Given the description of an element on the screen output the (x, y) to click on. 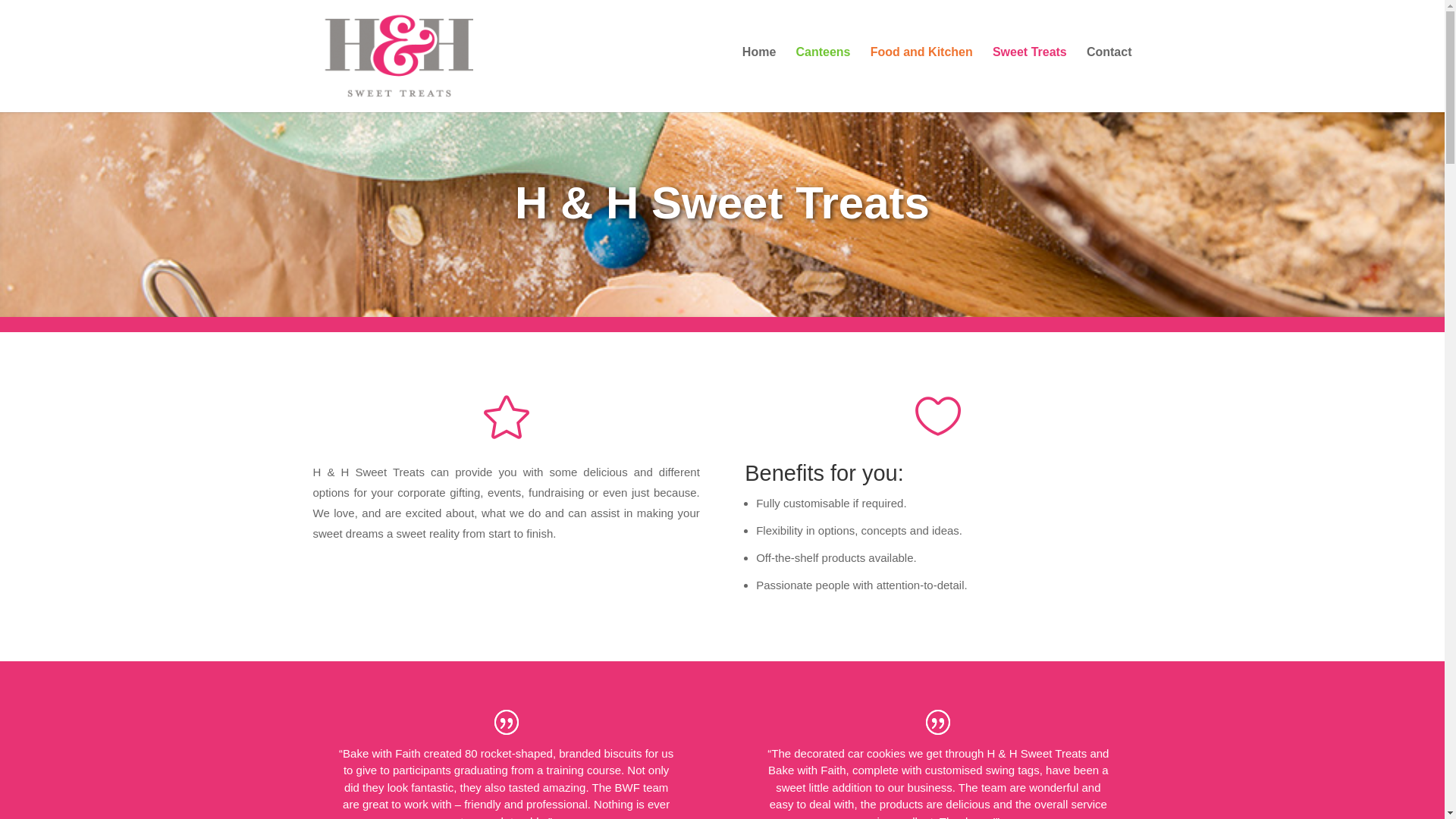
Food and Kitchen Element type: text (921, 75)
Canteens Element type: text (822, 75)
Home Element type: text (758, 75)
Sweet Treats Element type: text (1029, 75)
Contact Element type: text (1109, 75)
